Given the description of an element on the screen output the (x, y) to click on. 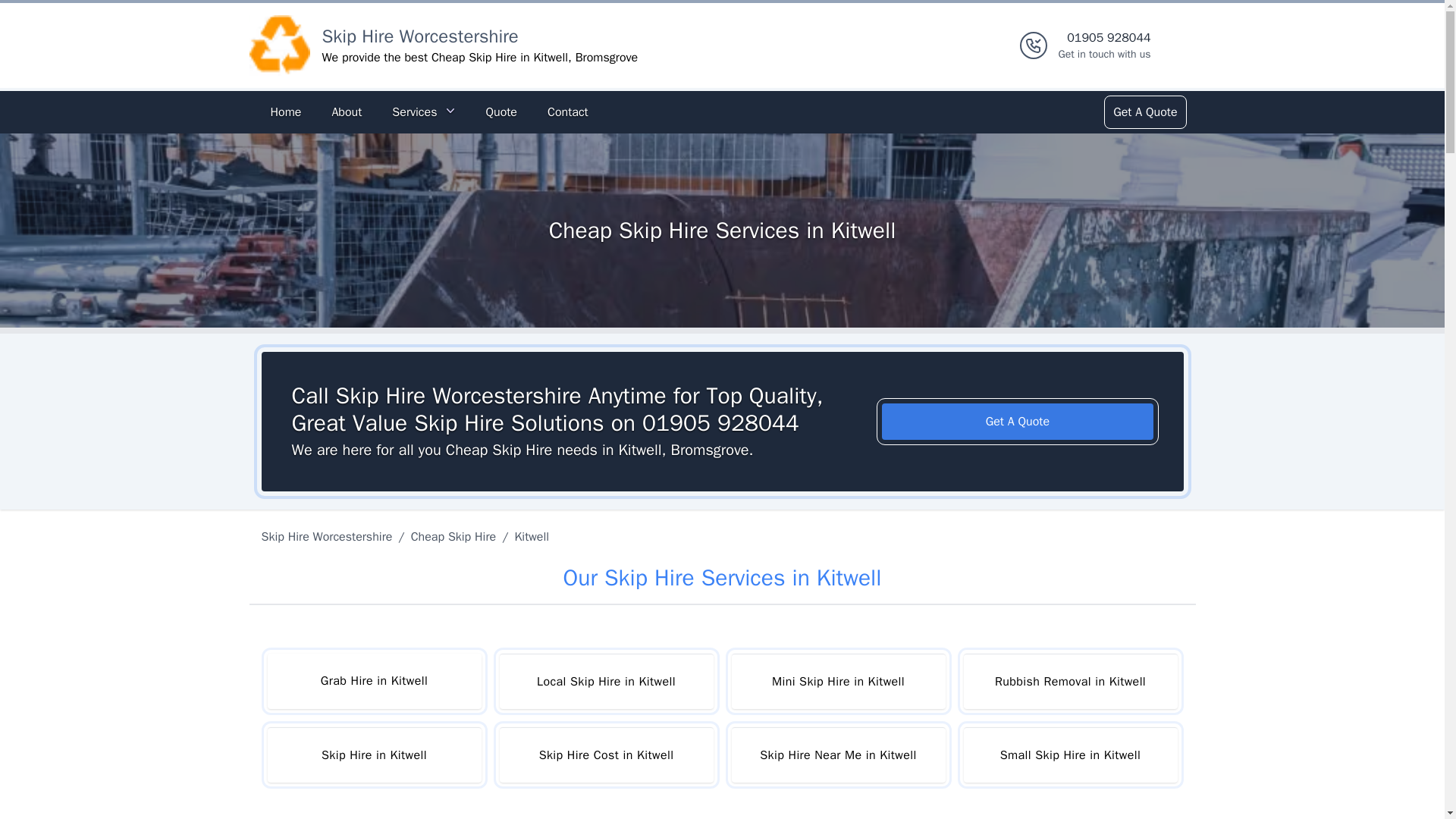
Home (285, 112)
Services (423, 112)
Cheap Skip Hire (453, 536)
Local Skip Hire in Kitwell (606, 681)
About (346, 112)
Get A Quote (1017, 421)
Get A Quote (1144, 112)
Skip Hire Worcestershire (419, 36)
Small Skip Hire in Kitwell (1104, 45)
Skip Hire in Kitwell (1069, 754)
Skip Hire Cost in Kitwell (373, 754)
Mini Skip Hire in Kitwell (606, 754)
Skip Hire Near Me in Kitwell (837, 681)
Quote (837, 754)
